Given the description of an element on the screen output the (x, y) to click on. 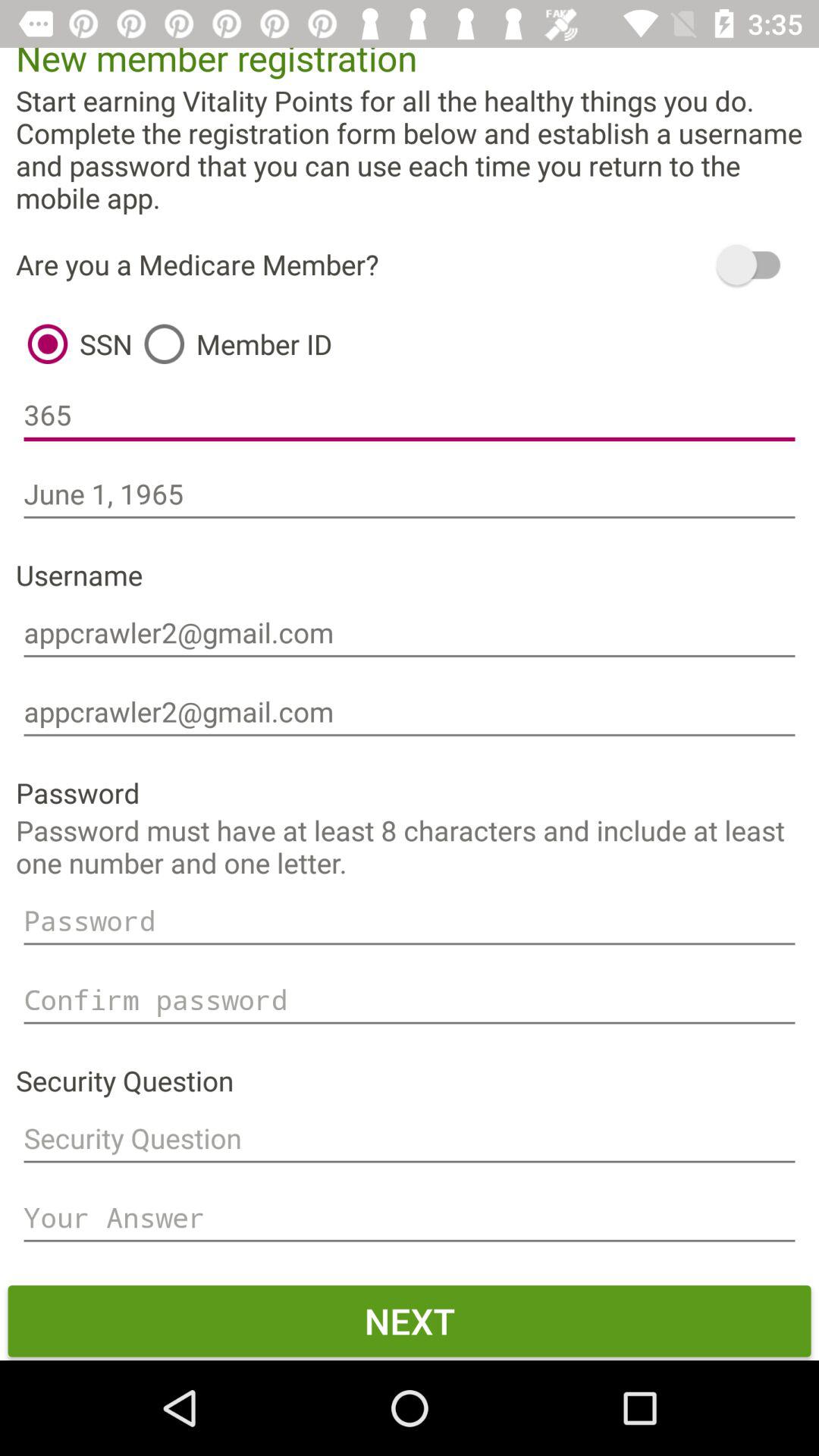
answer security question (409, 1217)
